Given the description of an element on the screen output the (x, y) to click on. 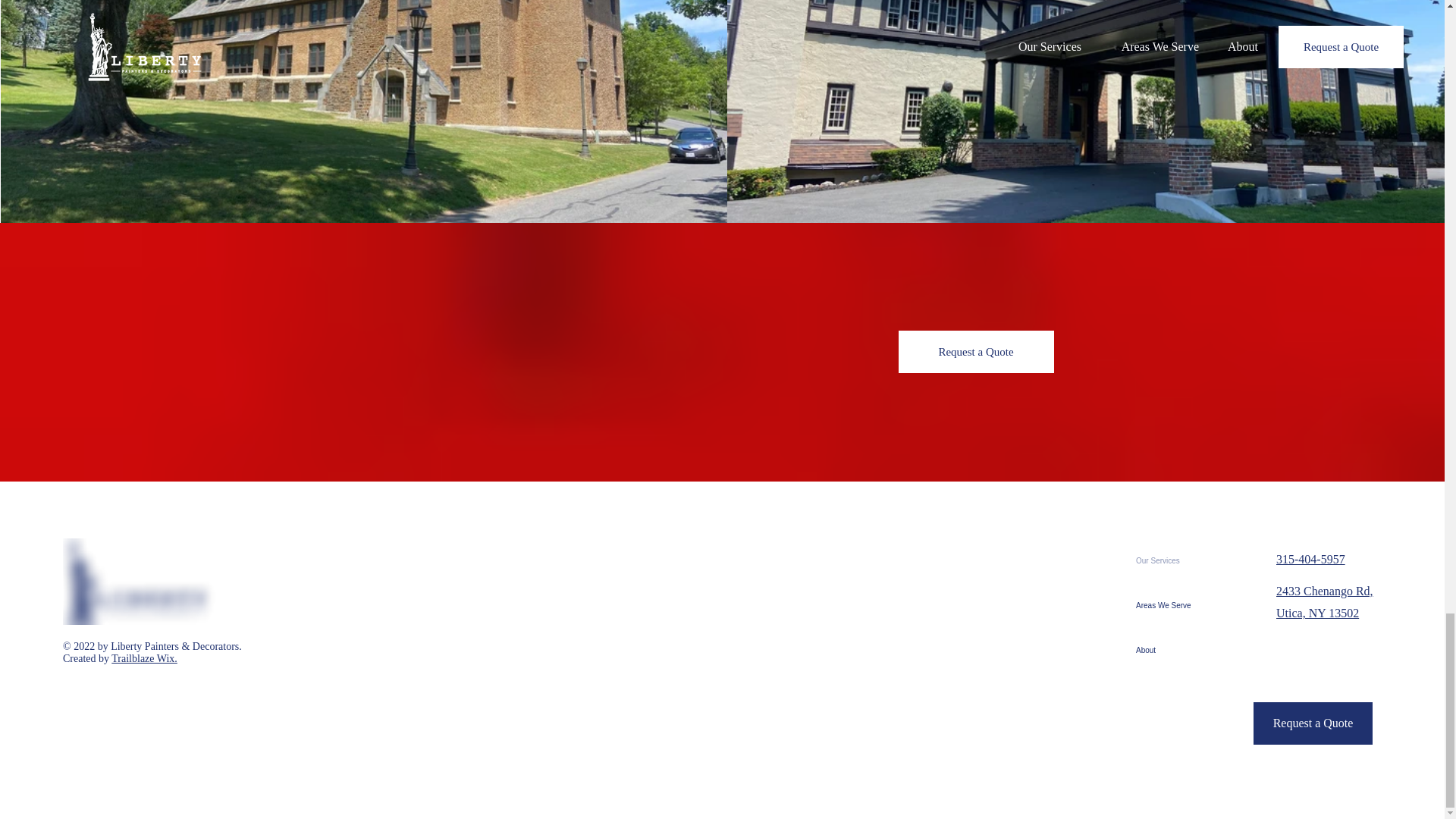
Trailblaze Wix. (144, 658)
Areas We Serve (1163, 605)
Google Maps (793, 649)
2433 Chenango Rd, Utica, NY 13502 (1324, 601)
Request a Quote (975, 351)
About (1163, 650)
315-404-5957 (1310, 558)
Request a Quote (1313, 722)
